Given the description of an element on the screen output the (x, y) to click on. 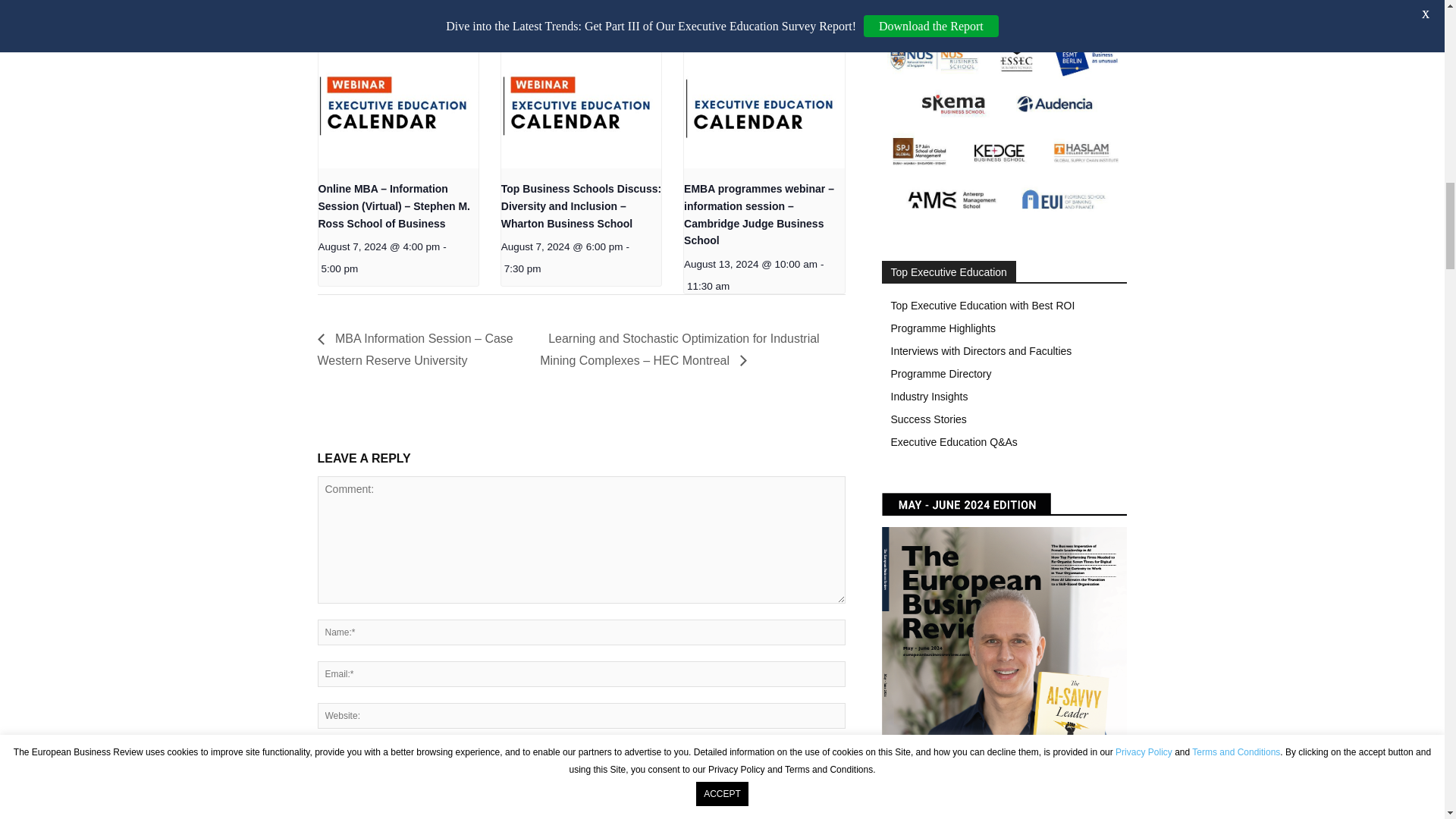
yes (321, 753)
Post Comment (360, 788)
